Given the description of an element on the screen output the (x, y) to click on. 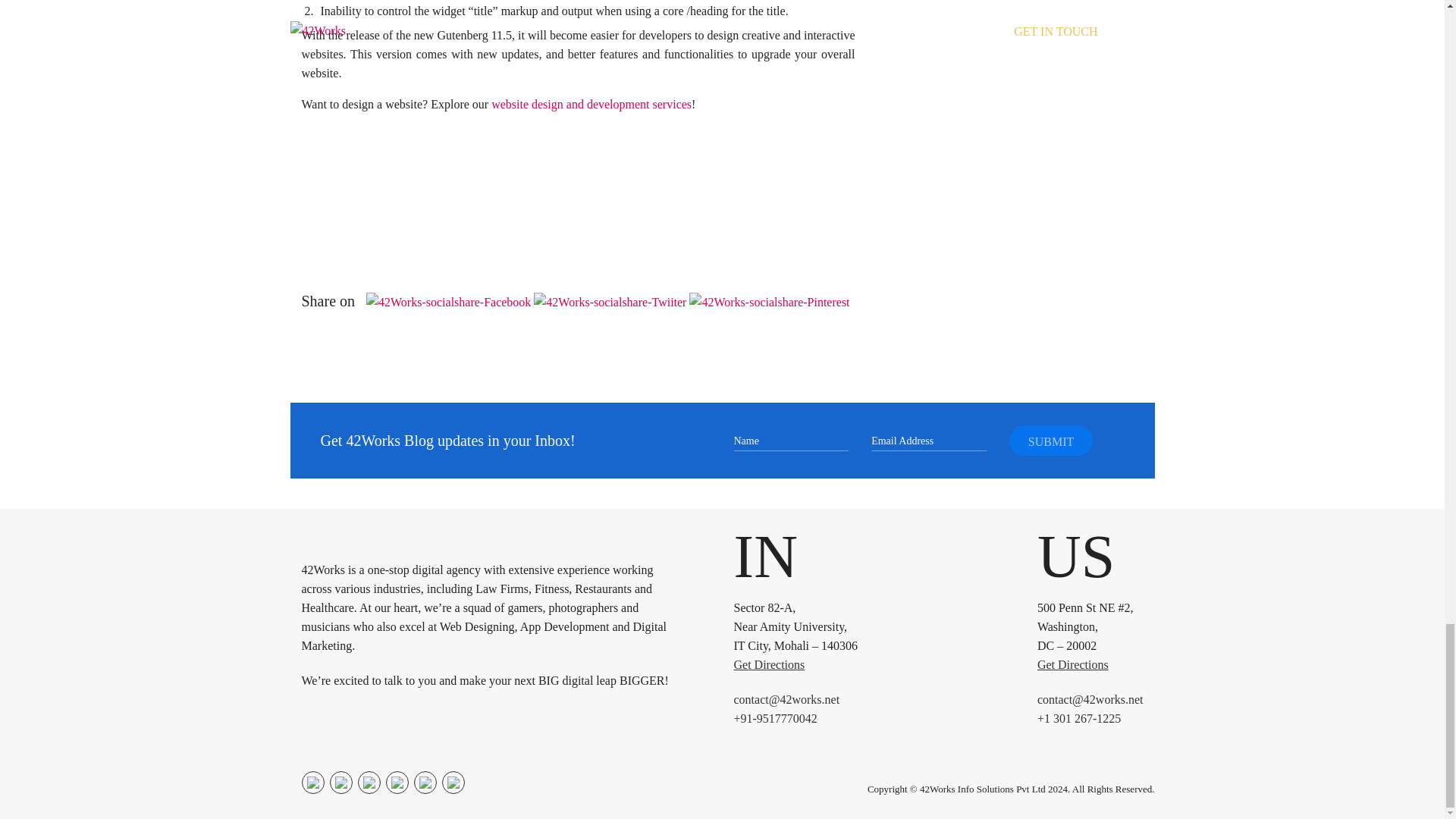
Facebook (312, 782)
pinterest (424, 782)
Get Directions (769, 664)
Get Directions (1072, 664)
website design and development services (591, 103)
Click to share this post on Twitter (611, 300)
tumbler (452, 782)
Instagram (340, 782)
SUBMIT (1051, 440)
SUBMIT (1051, 440)
Click to share this post on Pinterest (768, 300)
Linkedin (396, 782)
X (369, 782)
